Given the description of an element on the screen output the (x, y) to click on. 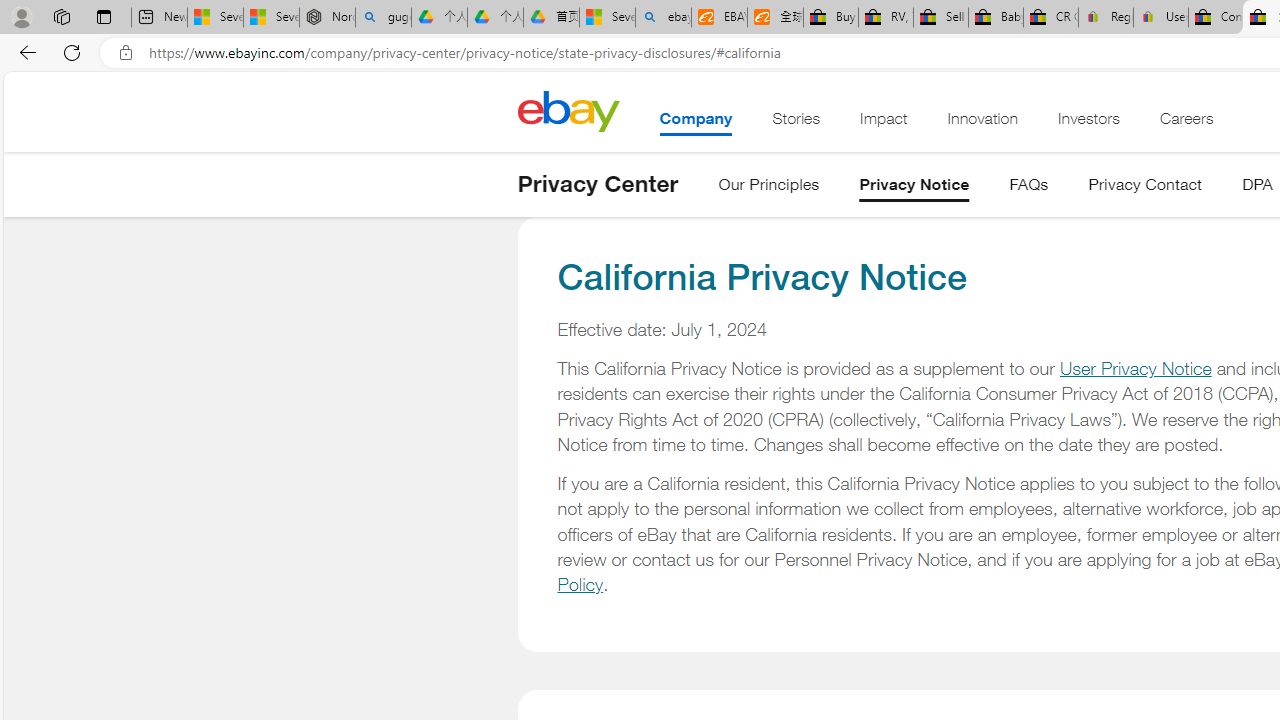
User Privacy Notice | eBay (1160, 17)
Our Principles (769, 188)
Consumer Health Data Privacy Policy - eBay Inc. (1215, 17)
DPA (1257, 188)
Privacy Center (597, 183)
Privacy Notice (914, 188)
User Privacy Notice (1135, 368)
